Given the description of an element on the screen output the (x, y) to click on. 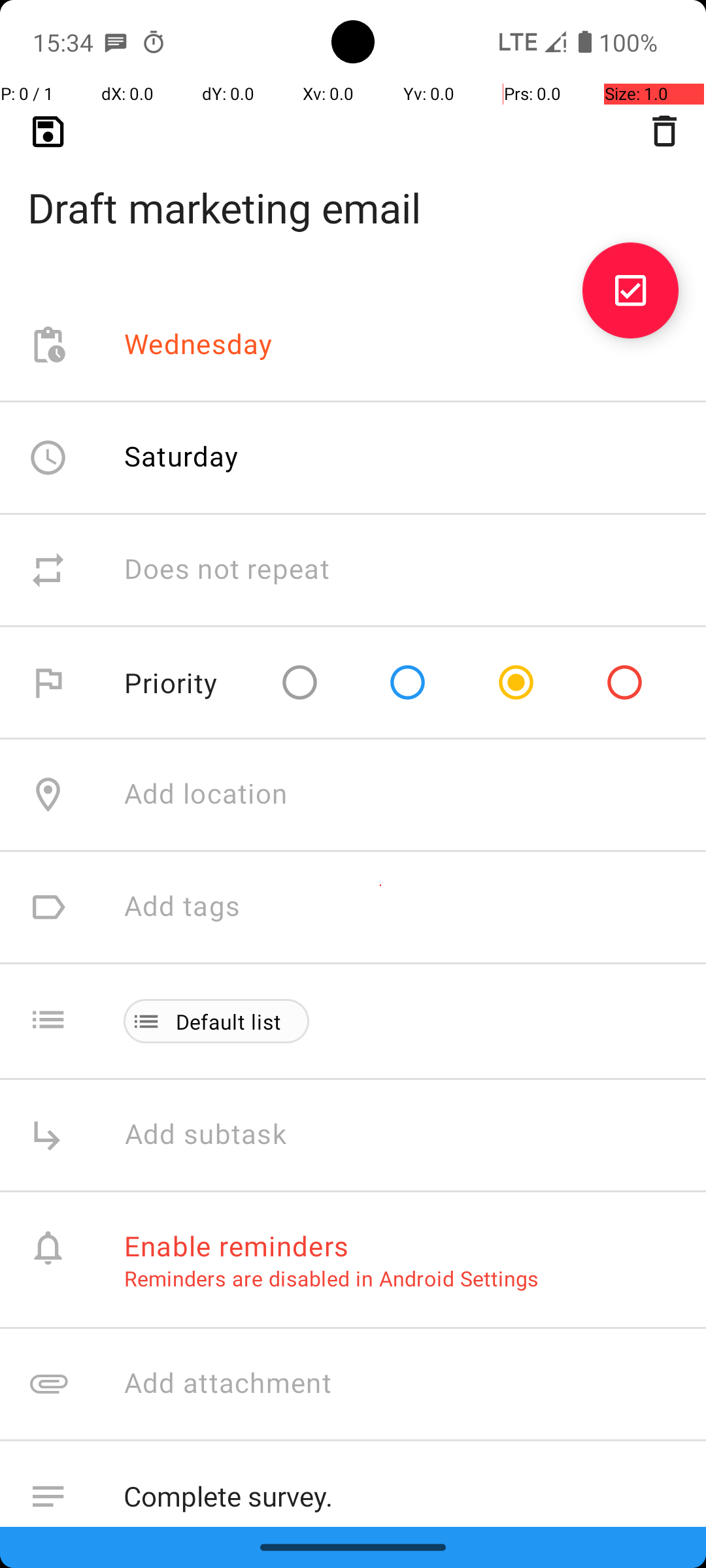
Draft marketing email Element type: android.widget.EditText (353, 186)
Saturday Element type: android.widget.TextView (181, 455)
Complete survey. Element type: android.widget.EditText (400, 1493)
